Given the description of an element on the screen output the (x, y) to click on. 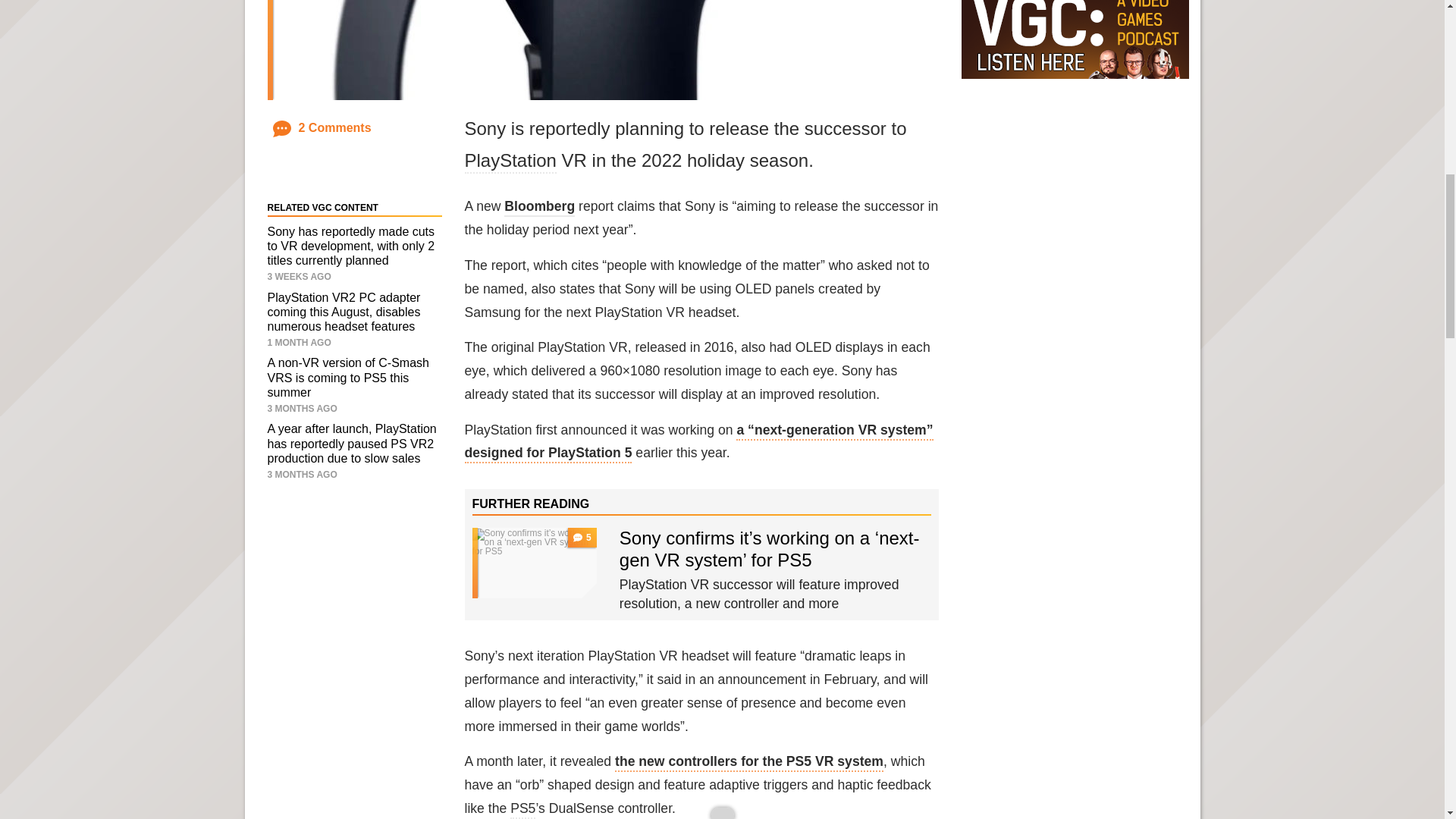
Bloomberg (539, 208)
PS5 (523, 809)
5 Comments (581, 537)
5 (533, 562)
the new controllers for the PS5 VR system (748, 762)
PlayStation (510, 161)
